Given the description of an element on the screen output the (x, y) to click on. 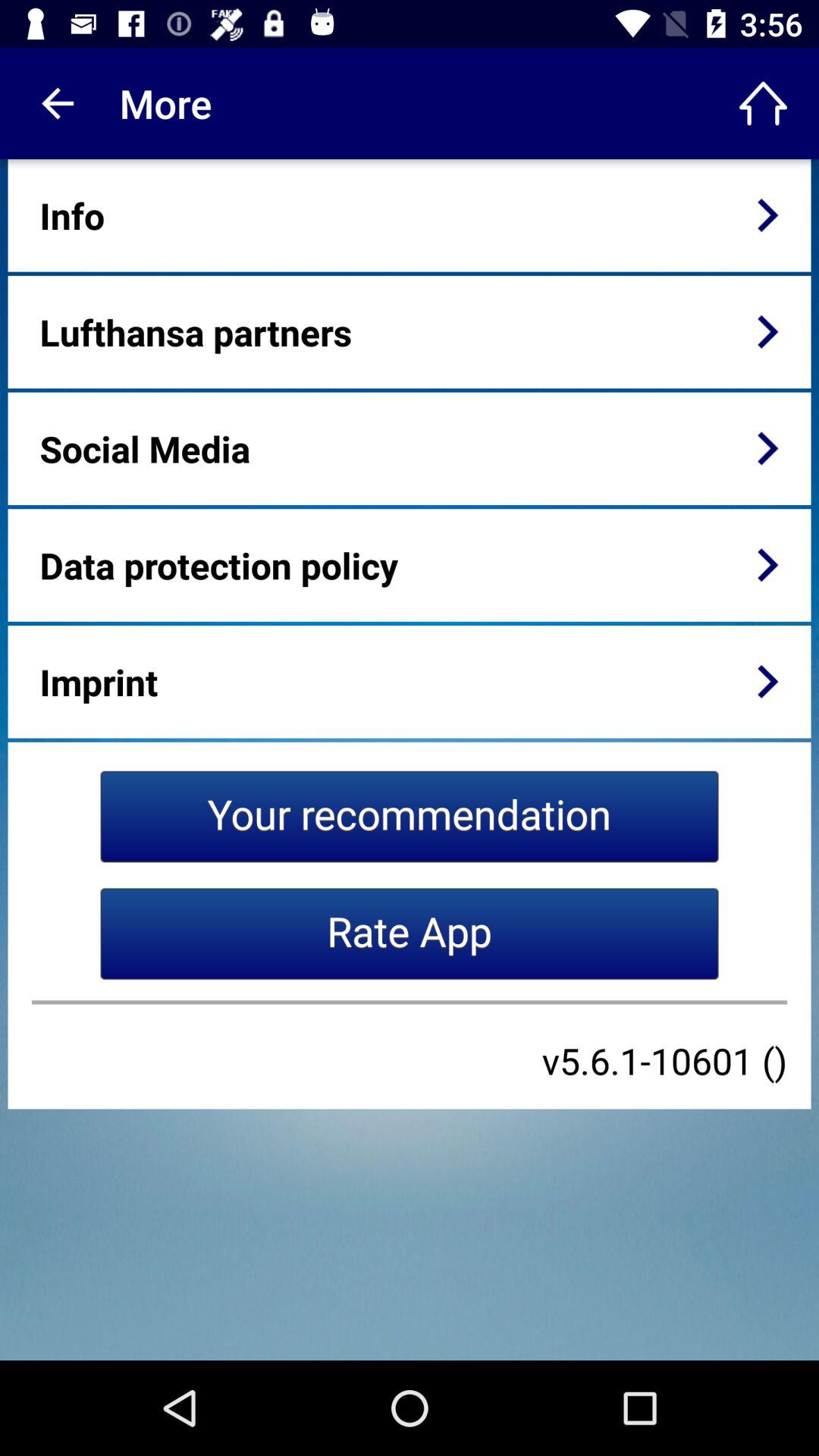
tap the rate app item (409, 933)
